Given the description of an element on the screen output the (x, y) to click on. 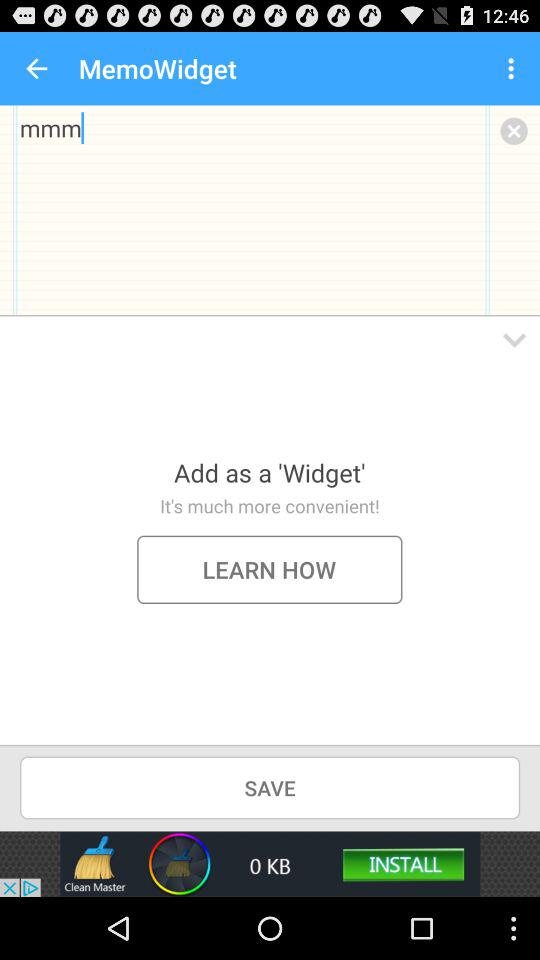
view cleanup app (270, 864)
